Given the description of an element on the screen output the (x, y) to click on. 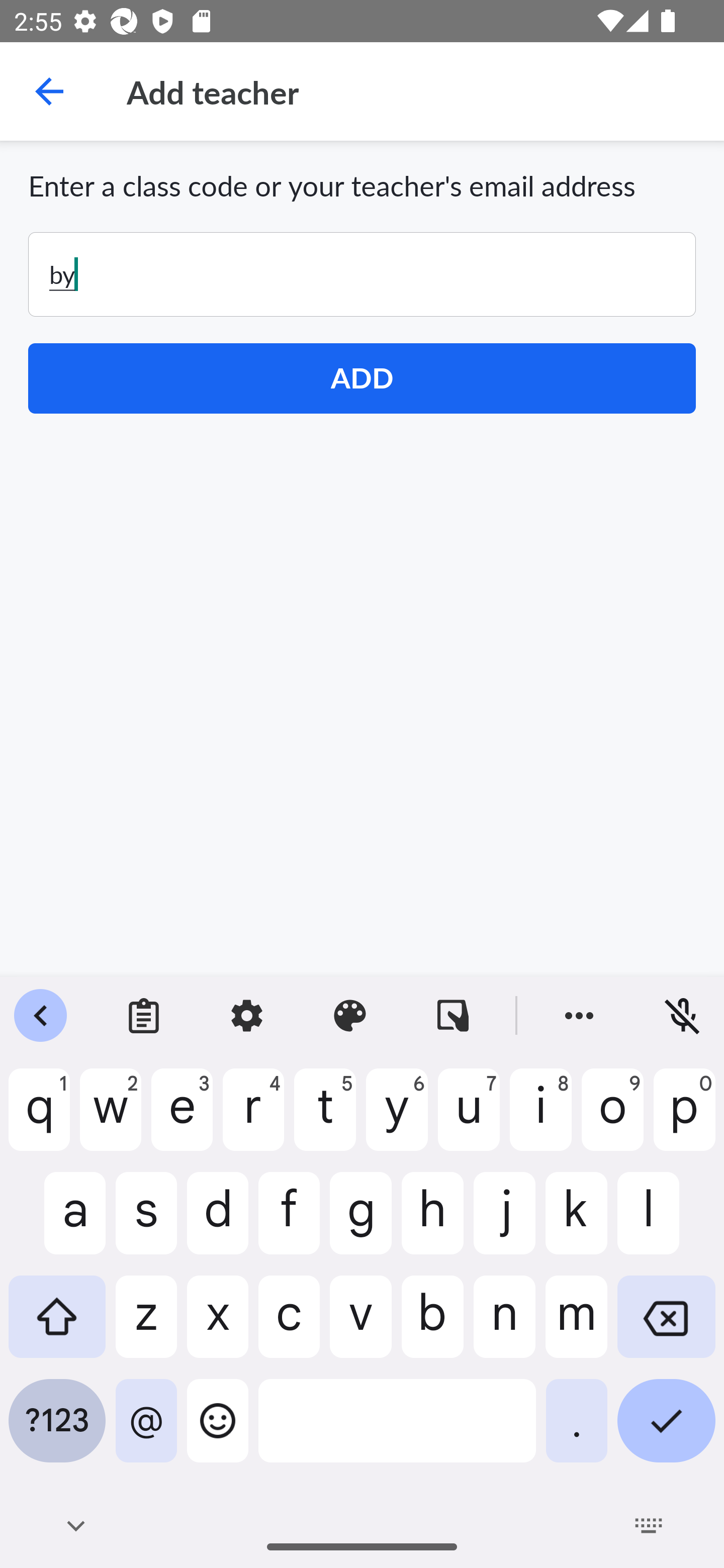
Navigate up (49, 91)
by e.g. ABC123 or teacher@example.com (361, 274)
ADD (361, 378)
